Given the description of an element on the screen output the (x, y) to click on. 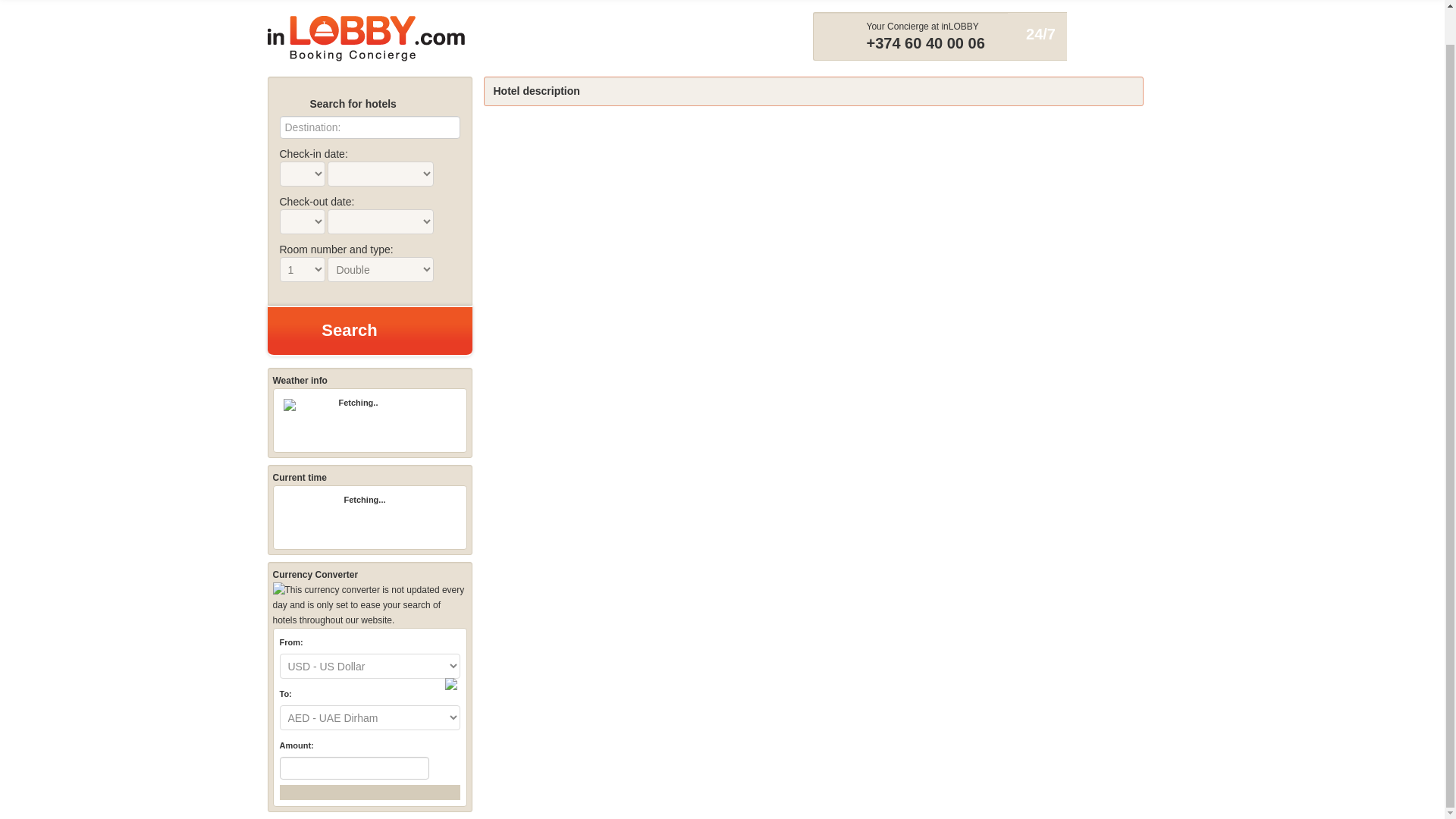
Search (368, 330)
